Given the description of an element on the screen output the (x, y) to click on. 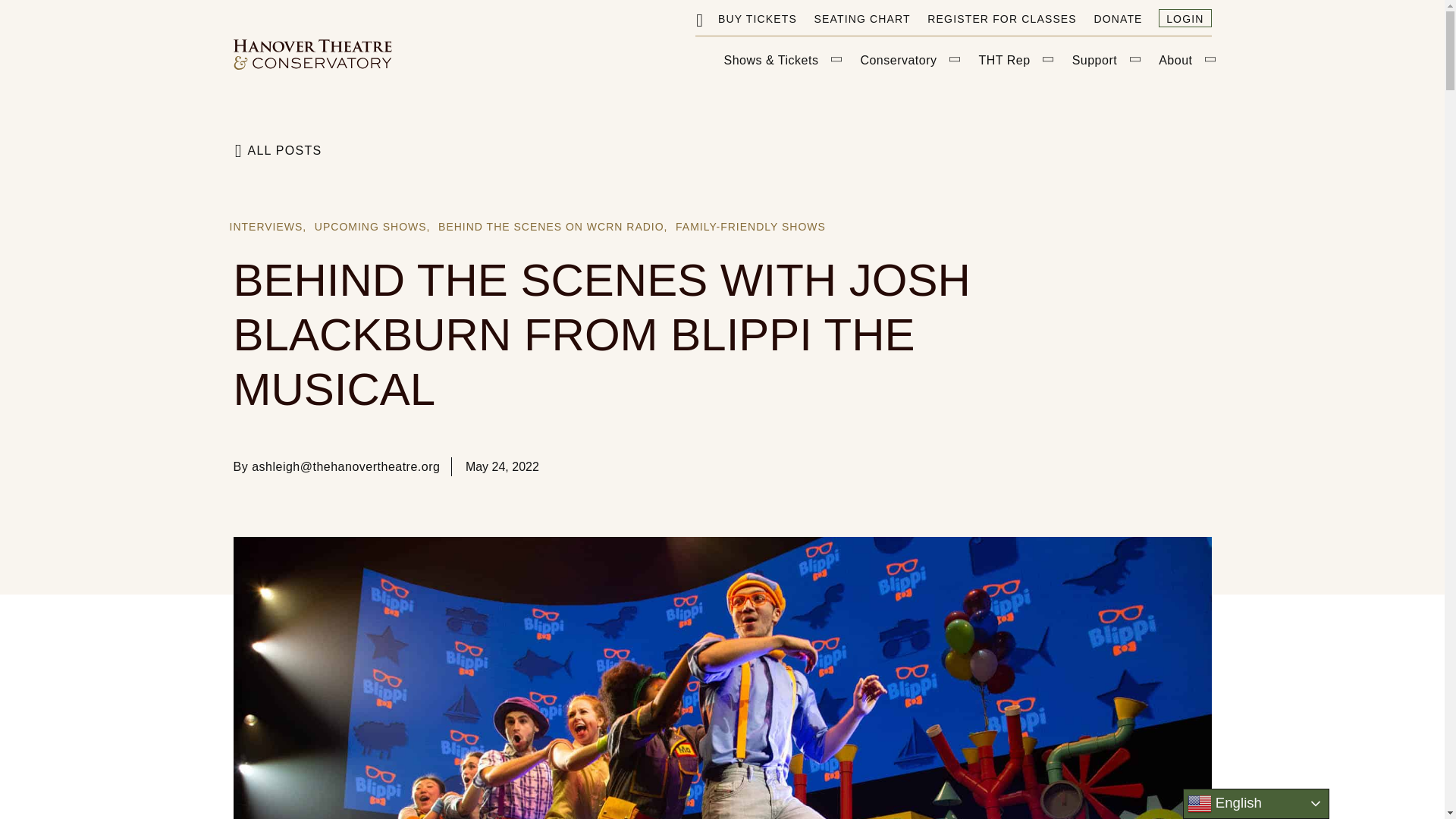
THT Rep (1013, 60)
Support (1104, 60)
Conservatory (907, 60)
